Given the description of an element on the screen output the (x, y) to click on. 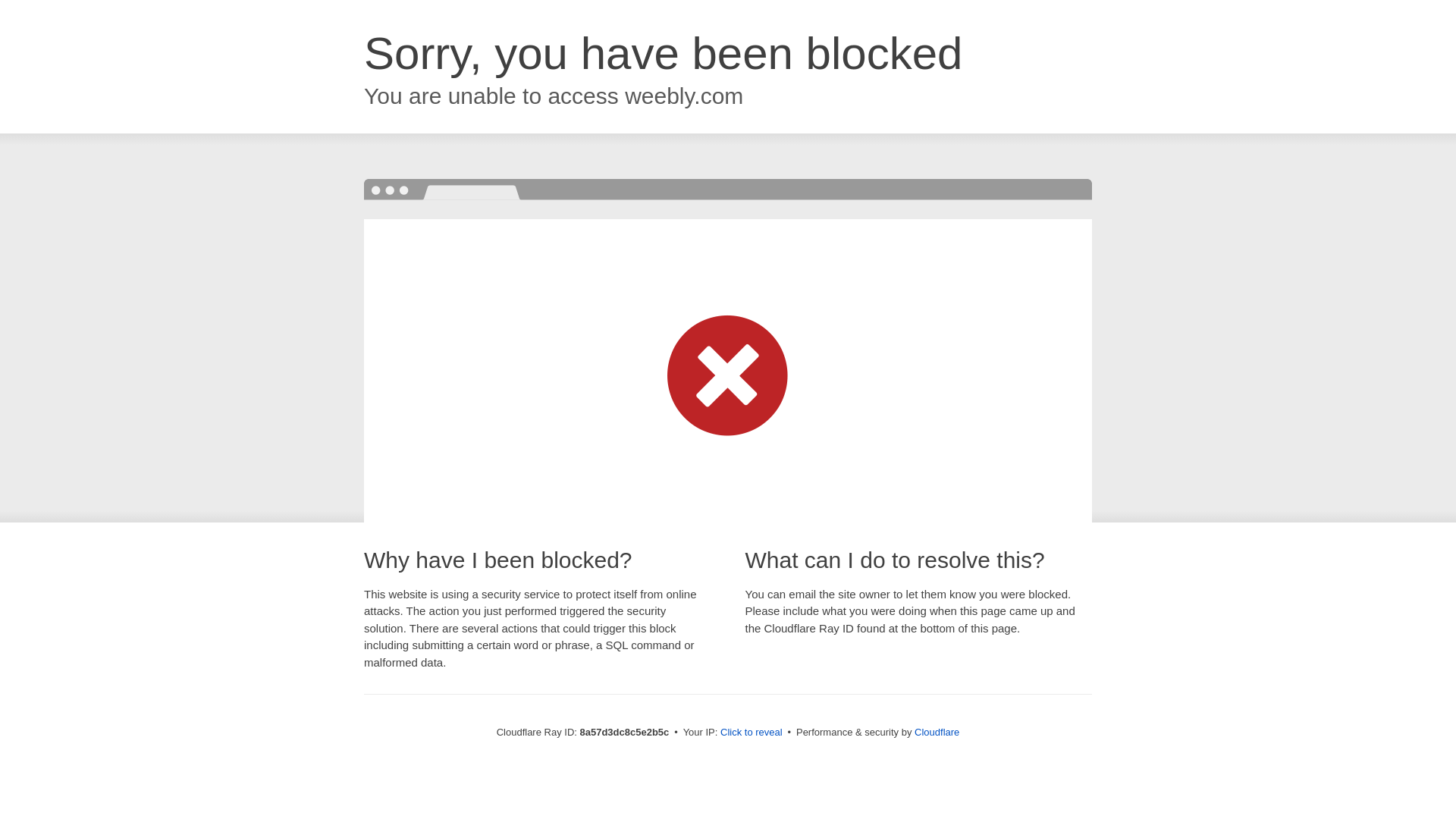
Click to reveal (751, 732)
Cloudflare (936, 731)
